Given the description of an element on the screen output the (x, y) to click on. 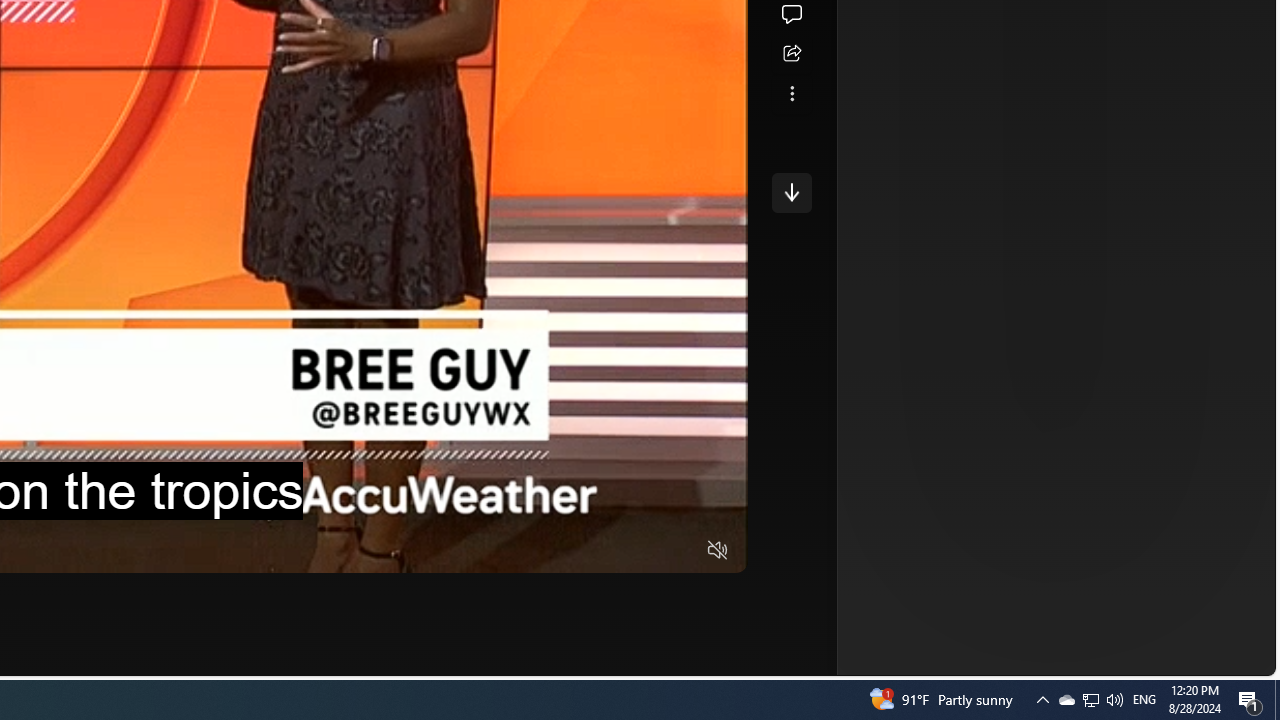
Jack Carter Trading (833, 337)
Class: control (791, 192)
 Lawsuits Fly Over Election Rules and Who Gets to Vote (993, 44)
Captions (639, 550)
Lawsuits Fly Over Election Rules and Who Gets to Vote (852, 43)
Share this story (791, 53)
Fullscreen (680, 550)
AutomationID: e5rZOEMGacU1 (791, 192)
